Given the description of an element on the screen output the (x, y) to click on. 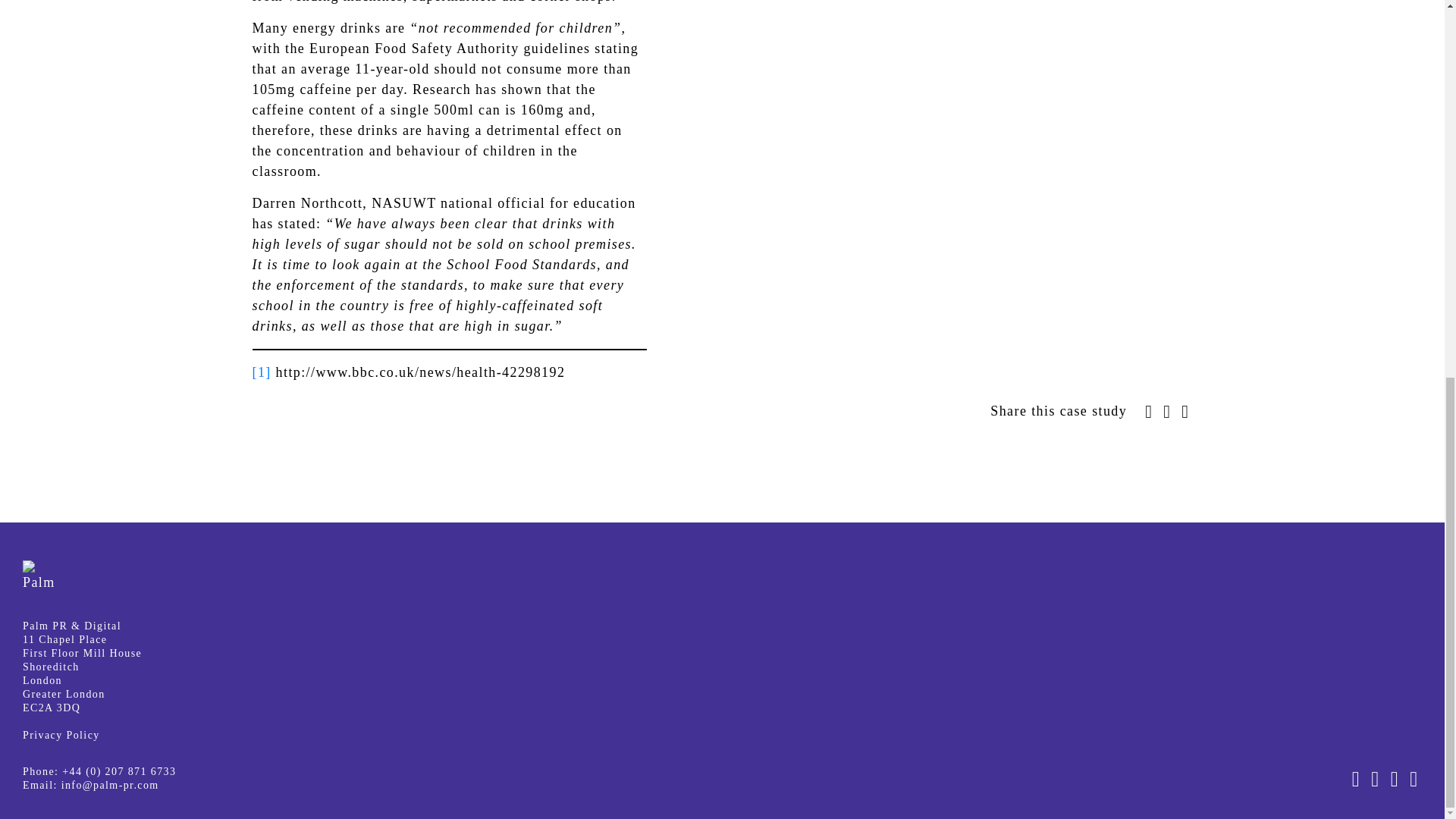
Privacy Policy (61, 735)
